Given the description of an element on the screen output the (x, y) to click on. 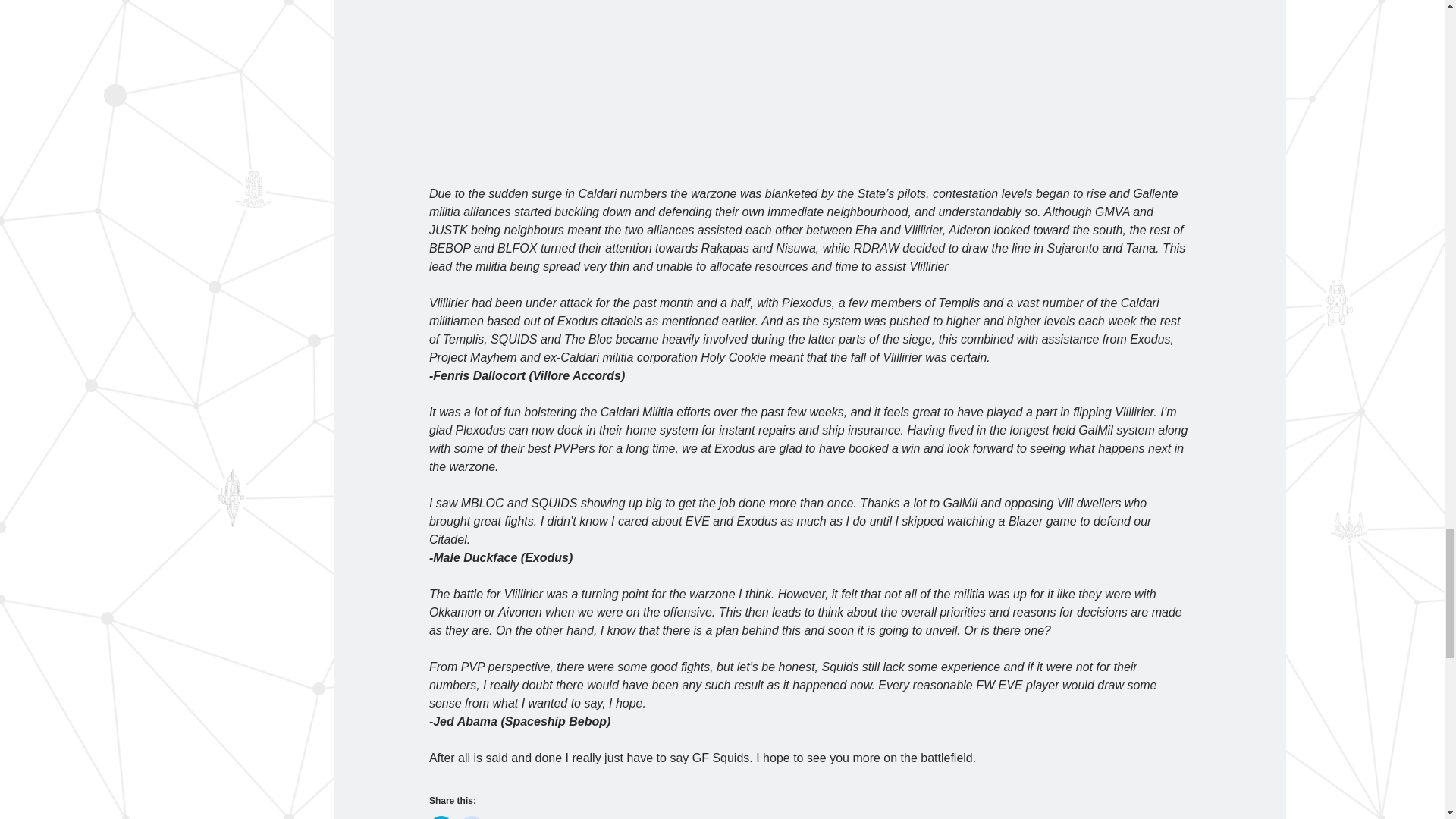
Click to share on Reddit (471, 817)
Click to share on Twitter (440, 817)
